Given the description of an element on the screen output the (x, y) to click on. 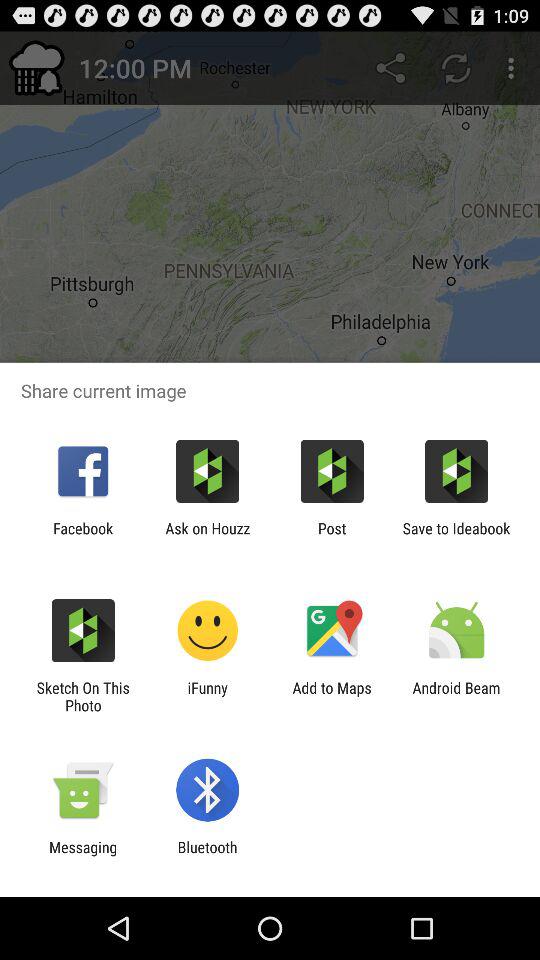
turn off ask on houzz app (207, 537)
